Given the description of an element on the screen output the (x, y) to click on. 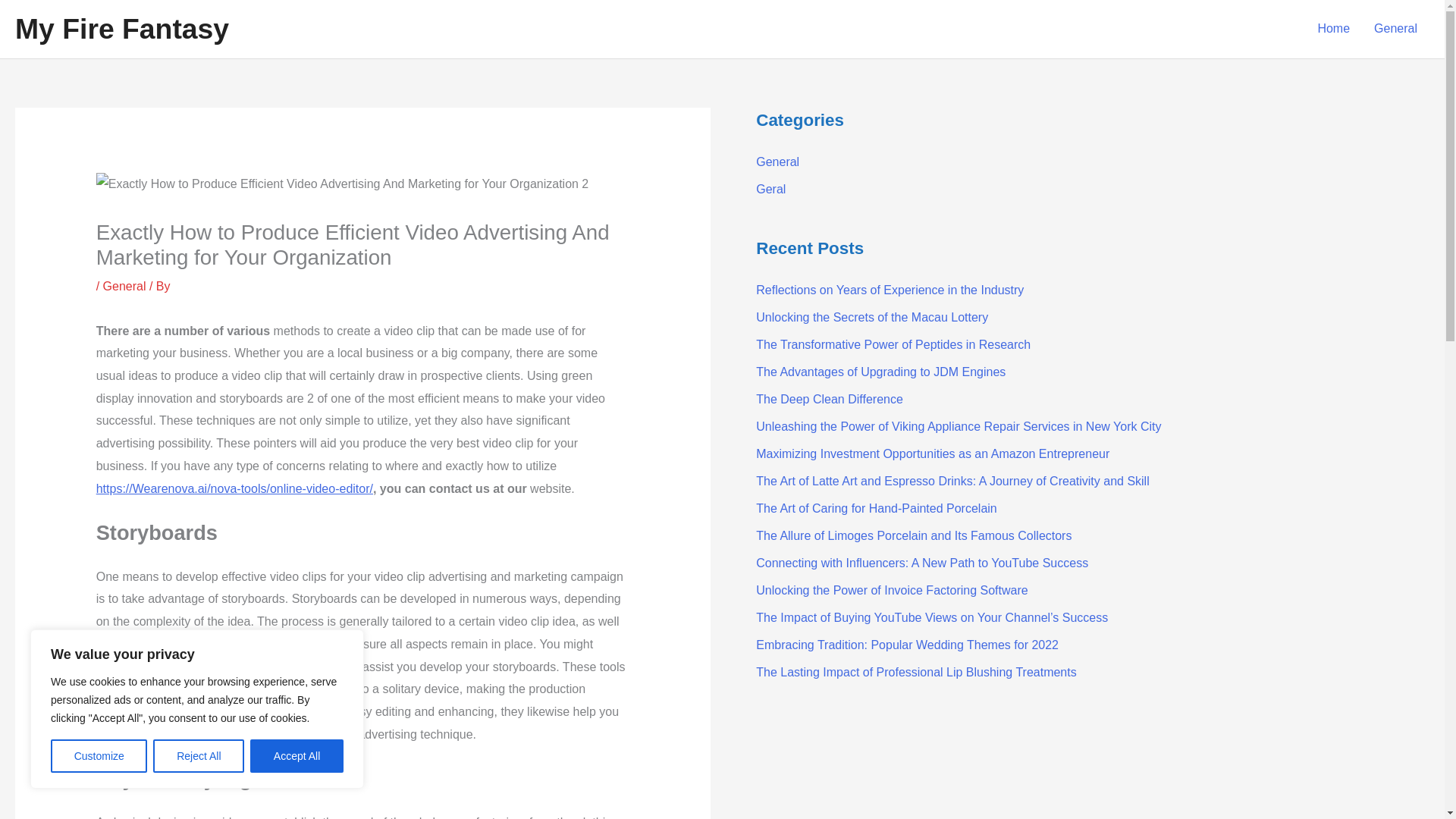
The Advantages of Upgrading to JDM Engines (880, 371)
internet resources (297, 666)
Home (1332, 28)
General (1395, 28)
General (125, 286)
Geral (770, 188)
Accept All (296, 756)
The Transformative Power of Peptides in Research (892, 344)
Unlocking the Secrets of the Macau Lottery (871, 317)
Customize (98, 756)
